Given the description of an element on the screen output the (x, y) to click on. 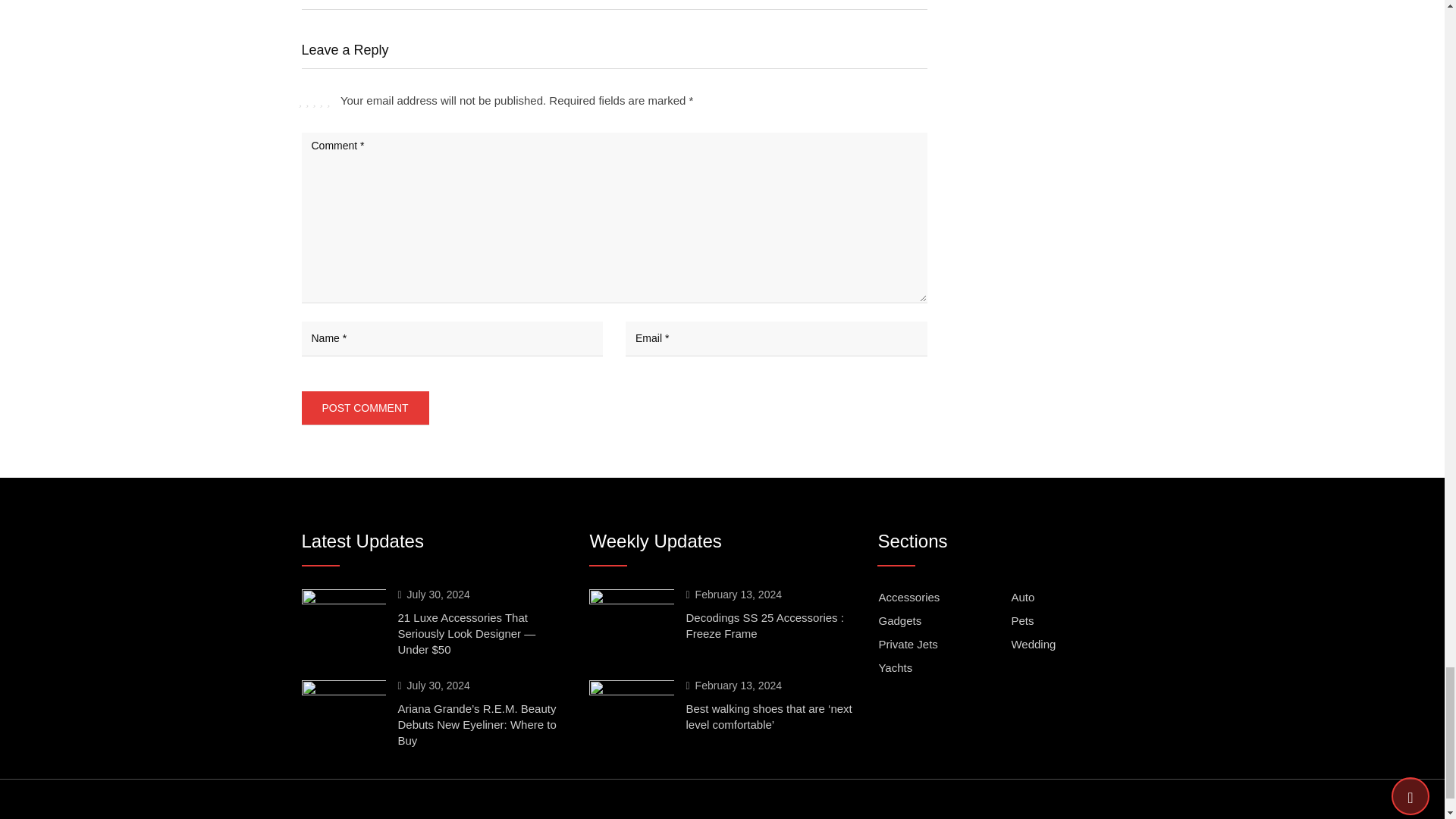
Post Comment (365, 408)
